Given the description of an element on the screen output the (x, y) to click on. 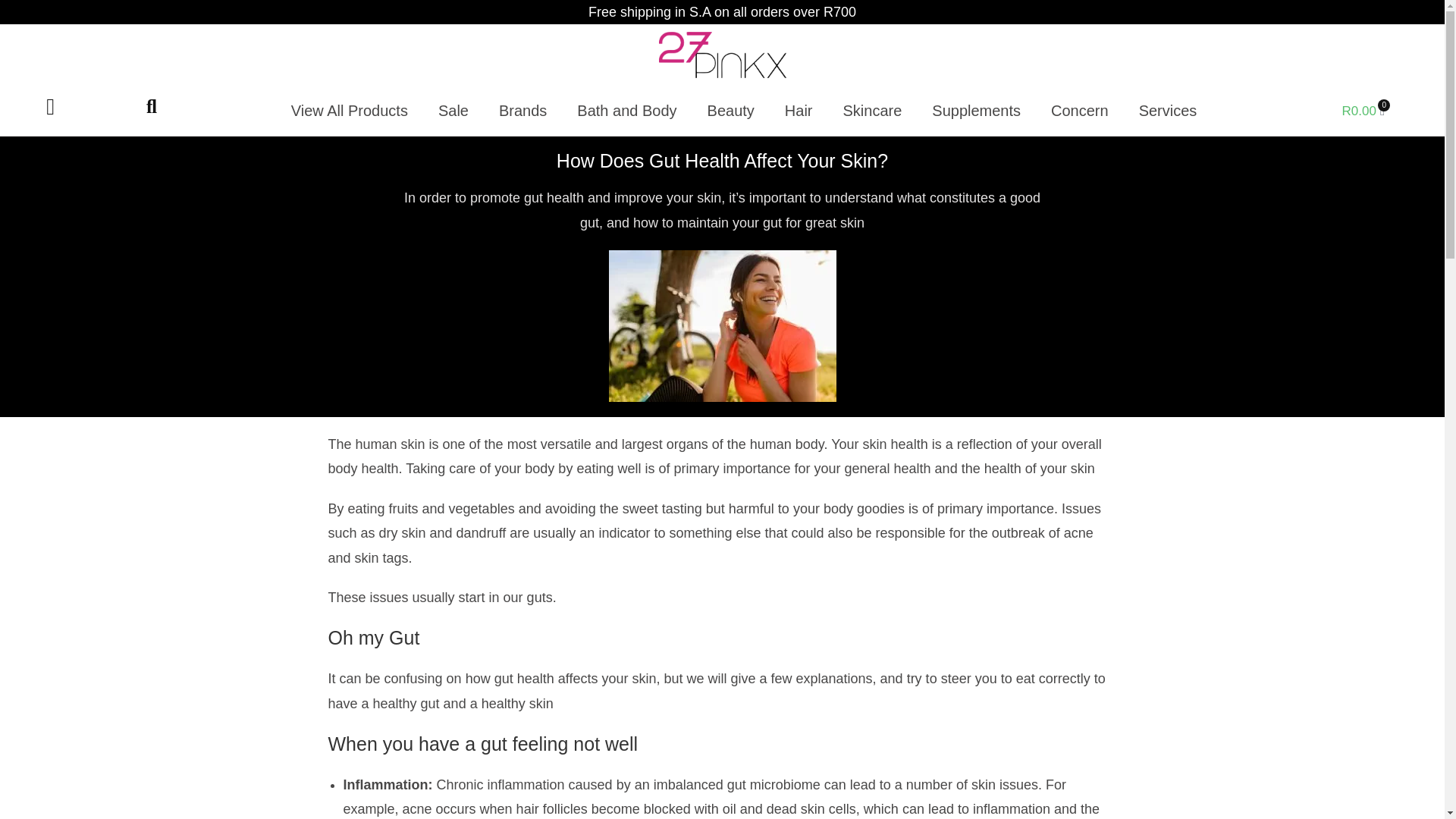
Beauty (731, 110)
Brands (522, 110)
Sale (453, 110)
View All Products (349, 110)
Bath and Body (626, 110)
Skincare (872, 110)
Hair (799, 110)
